Given the description of an element on the screen output the (x, y) to click on. 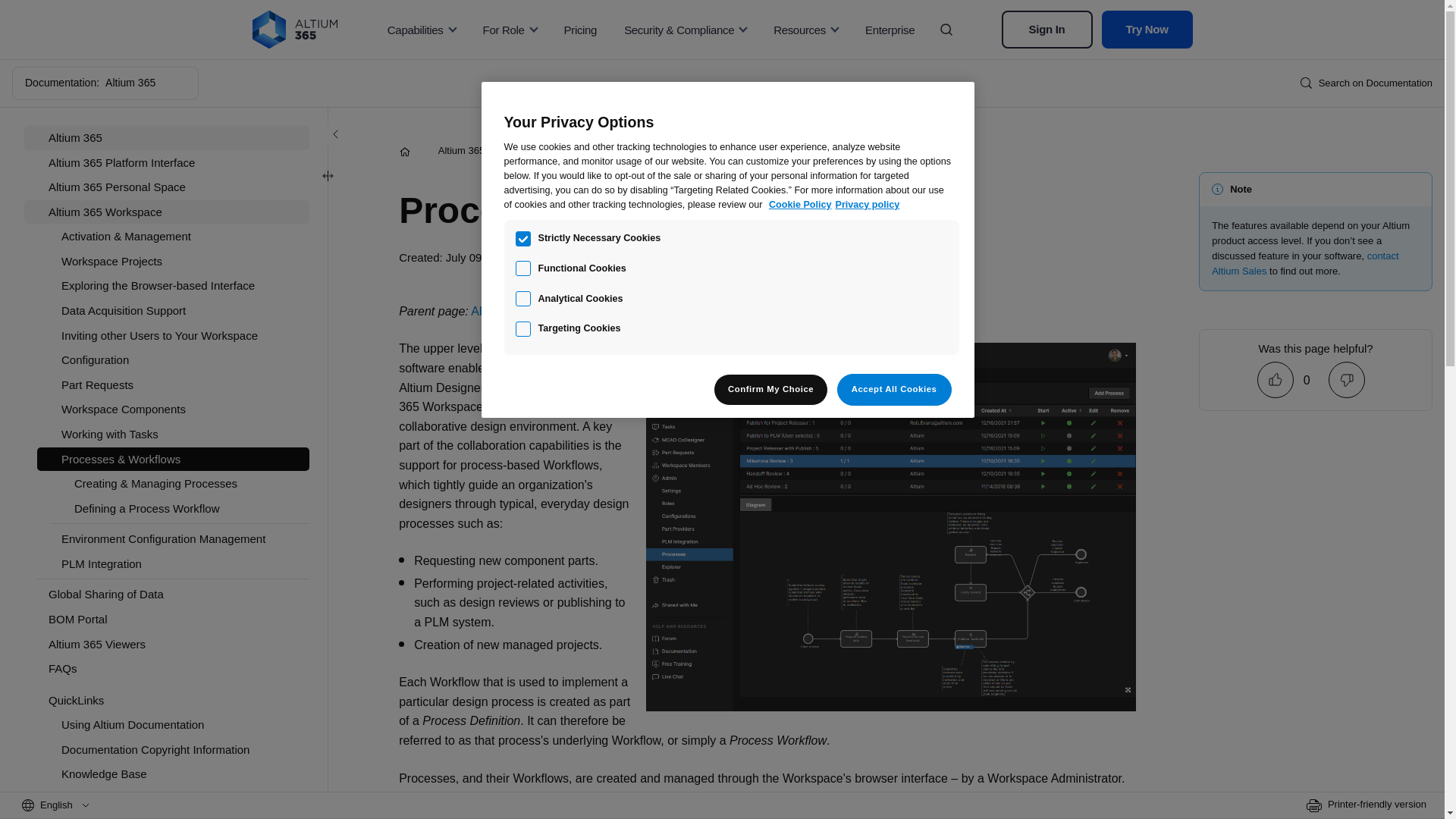
Sign In (1046, 29)
Capabilities (421, 28)
Resources (805, 28)
Enterprise (889, 28)
For Role (509, 28)
Pricing (580, 28)
